Given the description of an element on the screen output the (x, y) to click on. 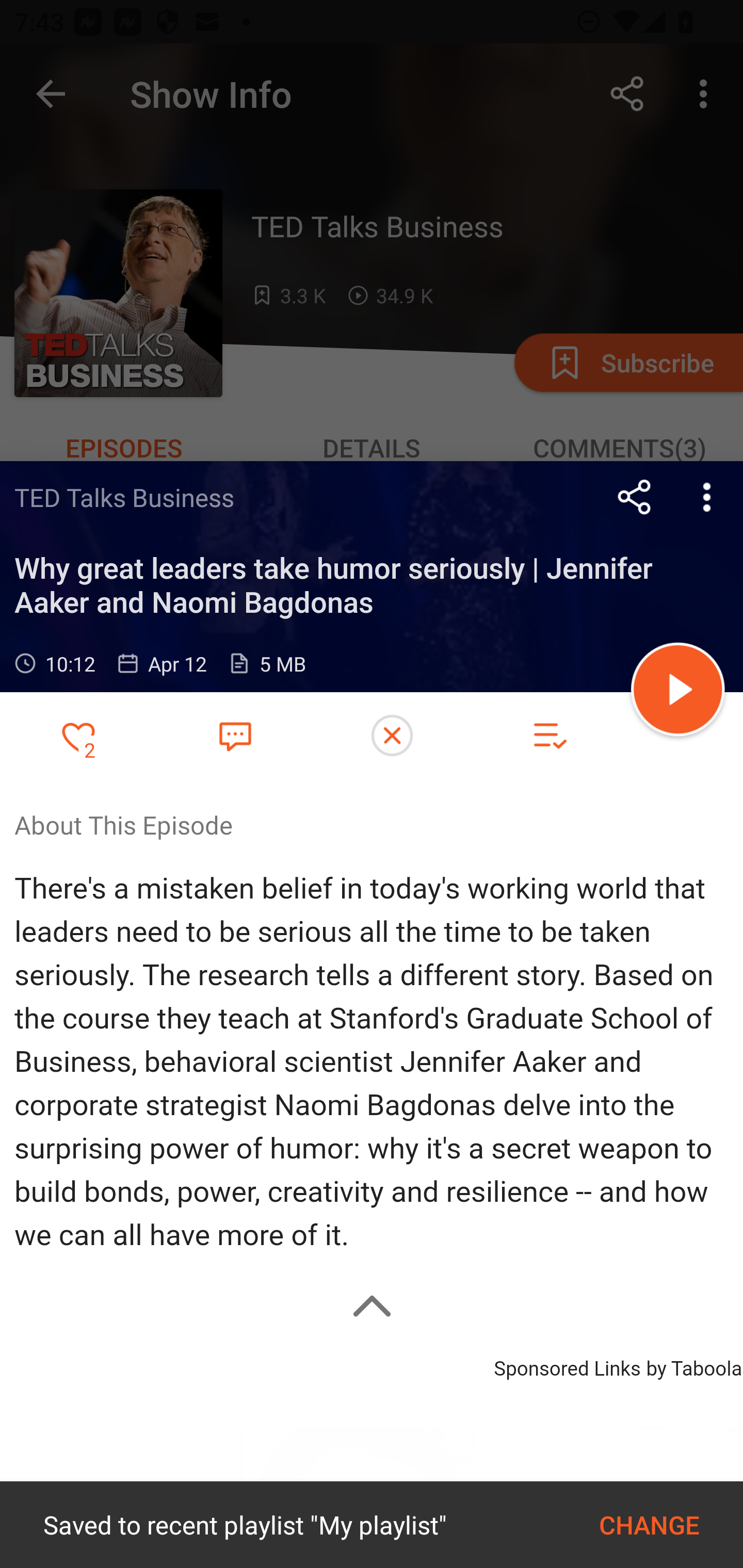
Share (634, 496)
more options (706, 496)
Play (677, 692)
Favorite (234, 735)
Add to Favorites (78, 735)
Cancel Downloading (391, 735)
Add to playlist (548, 735)
Sponsored Links (566, 1364)
by Taboola (693, 1364)
Saved to recent playlist "My playlist" CHANGE (371, 1524)
CHANGE (648, 1524)
